Given the description of an element on the screen output the (x, y) to click on. 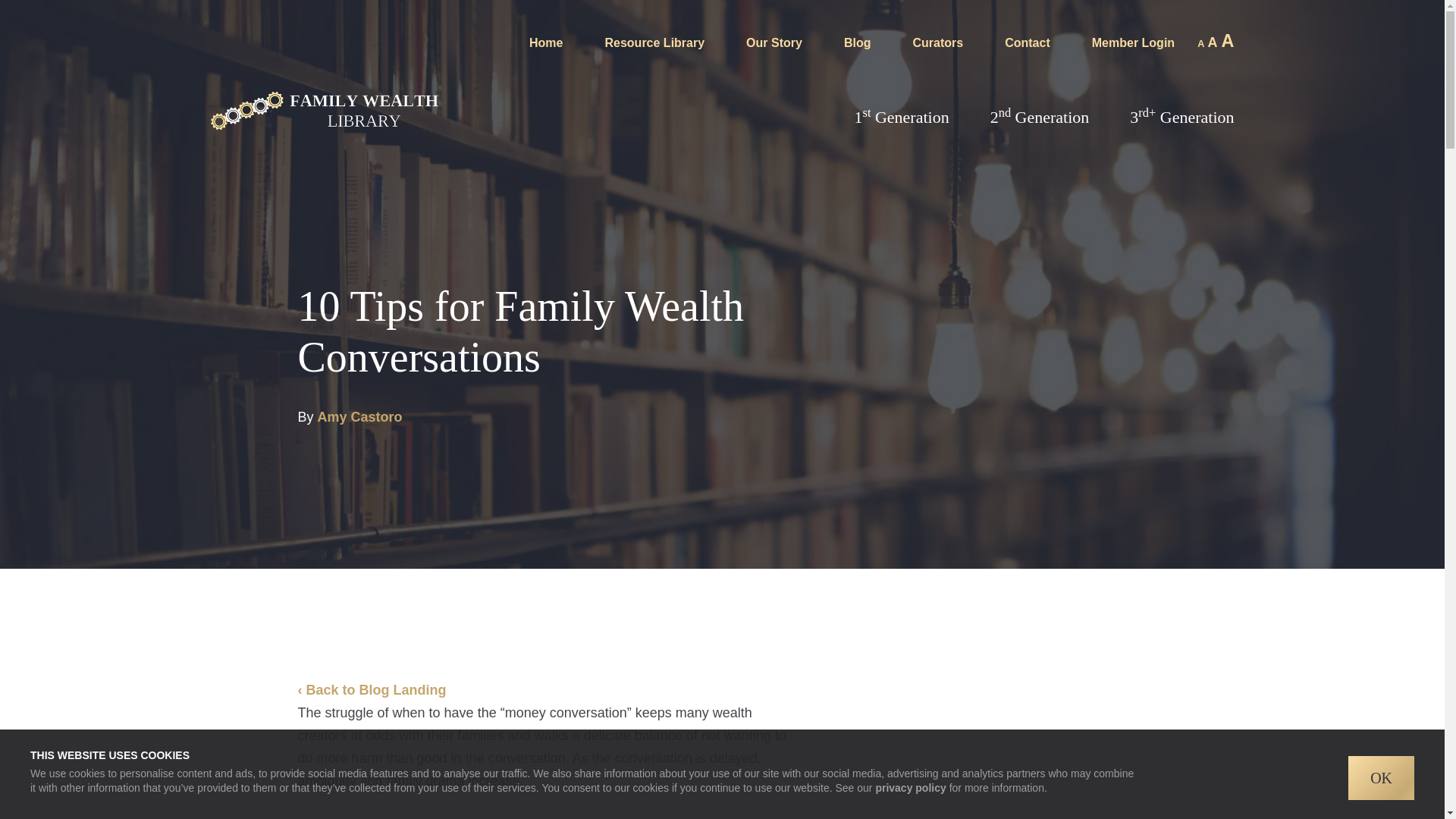
2nd Generation (1039, 119)
Home (545, 46)
Curators (937, 46)
Resource Library (654, 46)
Contact (1026, 46)
Contact (1026, 46)
1st Generation (901, 119)
Resource Library (654, 46)
Curators (937, 46)
1 Generation (901, 119)
Home (545, 46)
Blog (857, 46)
2 Generation (1039, 119)
Amy Castoro (359, 417)
Our Story (773, 46)
